Given the description of an element on the screen output the (x, y) to click on. 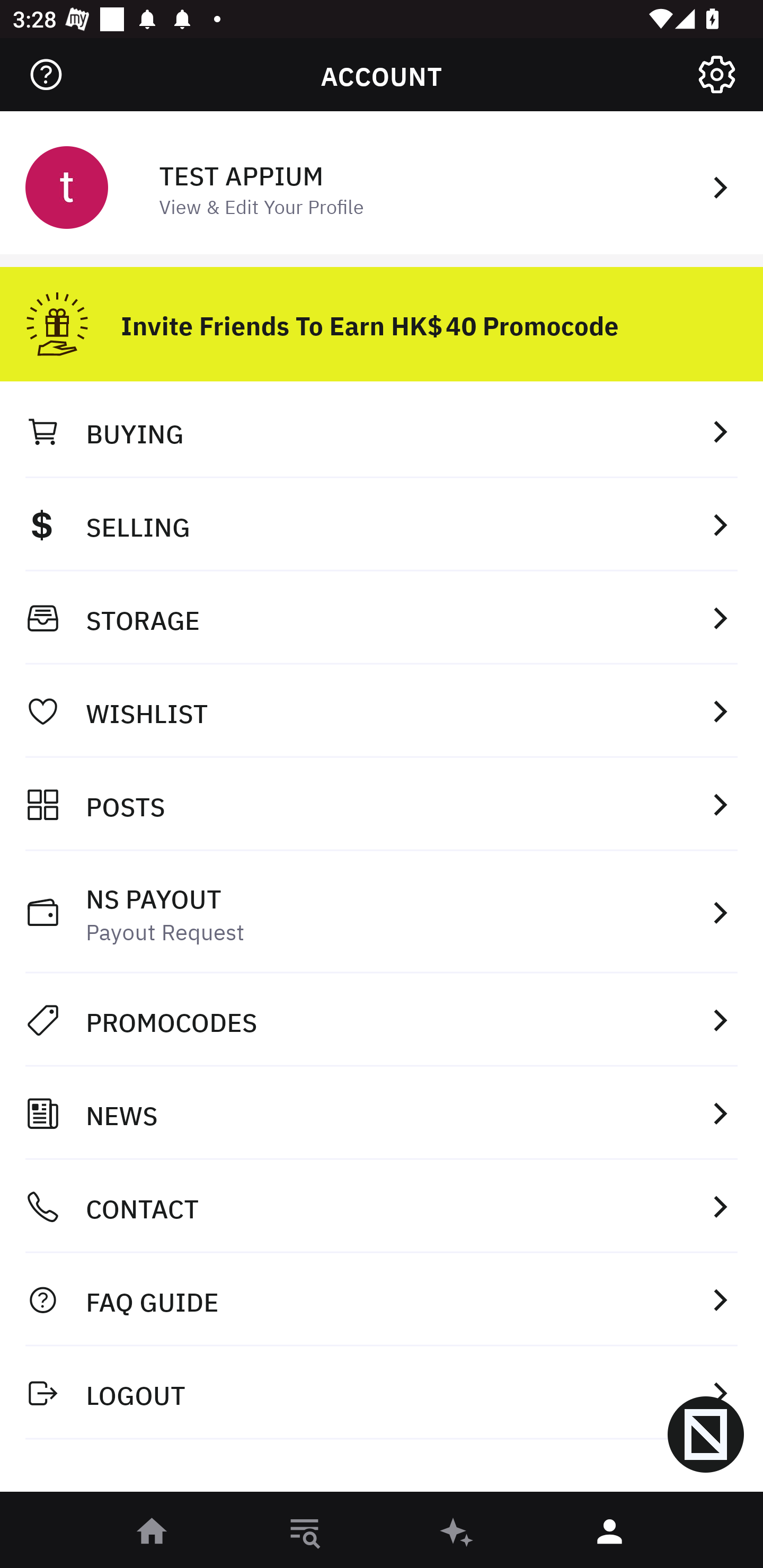
 (46, 74)
 (716, 74)
TEST APPIUM View & Edit Your Profile  (381, 185)
Invite Friends To Earn HK$ 40 Promocode (381, 317)
 BUYING  (381, 431)
 SELLING  (381, 524)
 STORAGE  (381, 617)
 WISHLIST  (381, 710)
 POSTS  (381, 804)
 0 NS PAYOUT Payout Request  (381, 912)
 PROMOCODES  (381, 1019)
 NEWS  (381, 1113)
 CONTACT  (381, 1206)
 FAQ GUIDE  (381, 1298)
 LOGOUT  (381, 1392)
󰋜 (152, 1532)
󱎸 (305, 1532)
󰫢 (457, 1532)
󰀄 (610, 1532)
